Given the description of an element on the screen output the (x, y) to click on. 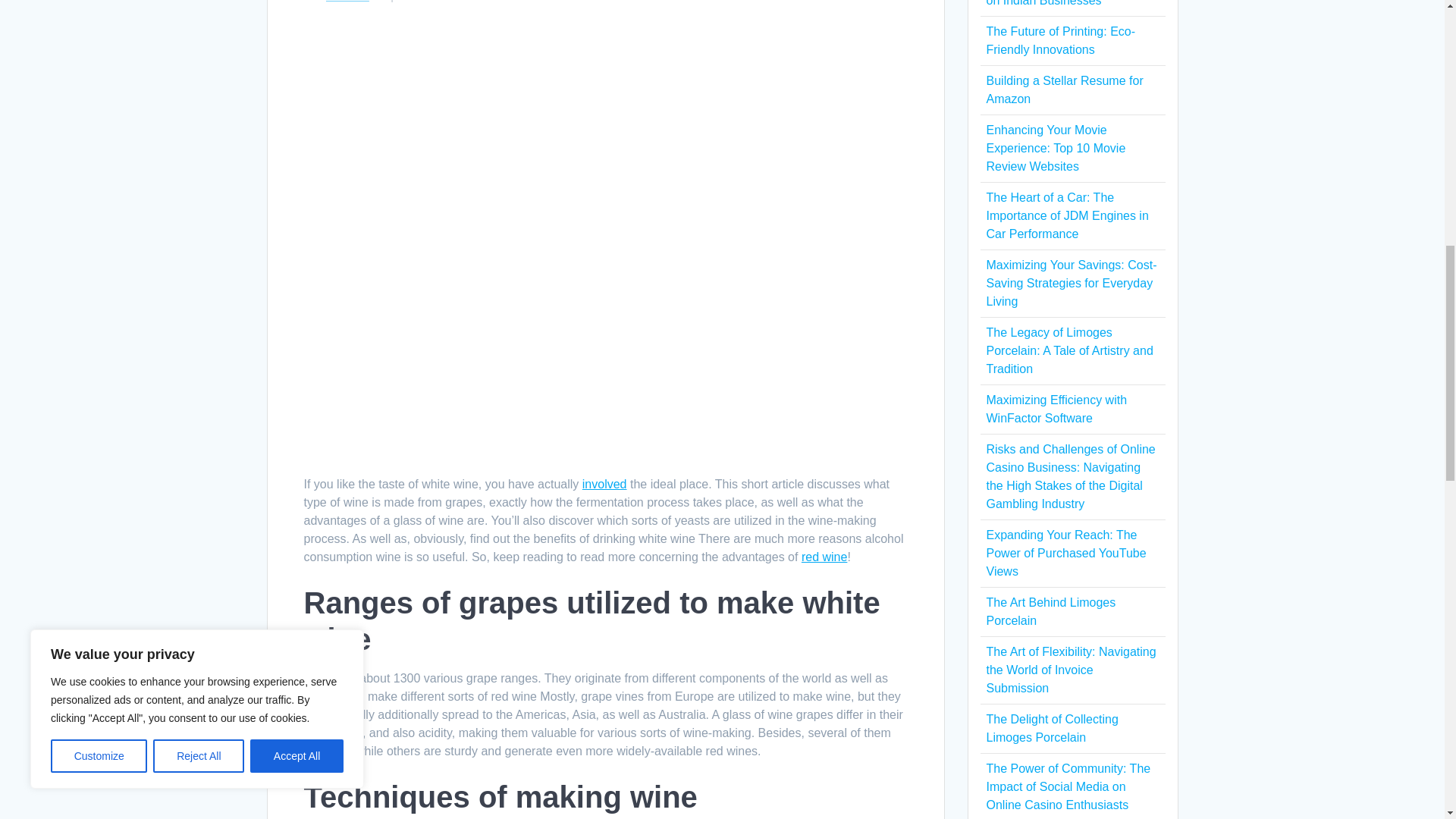
The Future of Printing: Eco-Friendly Innovations (1060, 40)
The Aftermath of Cyberattacks on Indian Businesses (1067, 3)
involved (604, 483)
red wine (824, 556)
General (347, 1)
Building a Stellar Resume for Amazon (1063, 89)
